Given the description of an element on the screen output the (x, y) to click on. 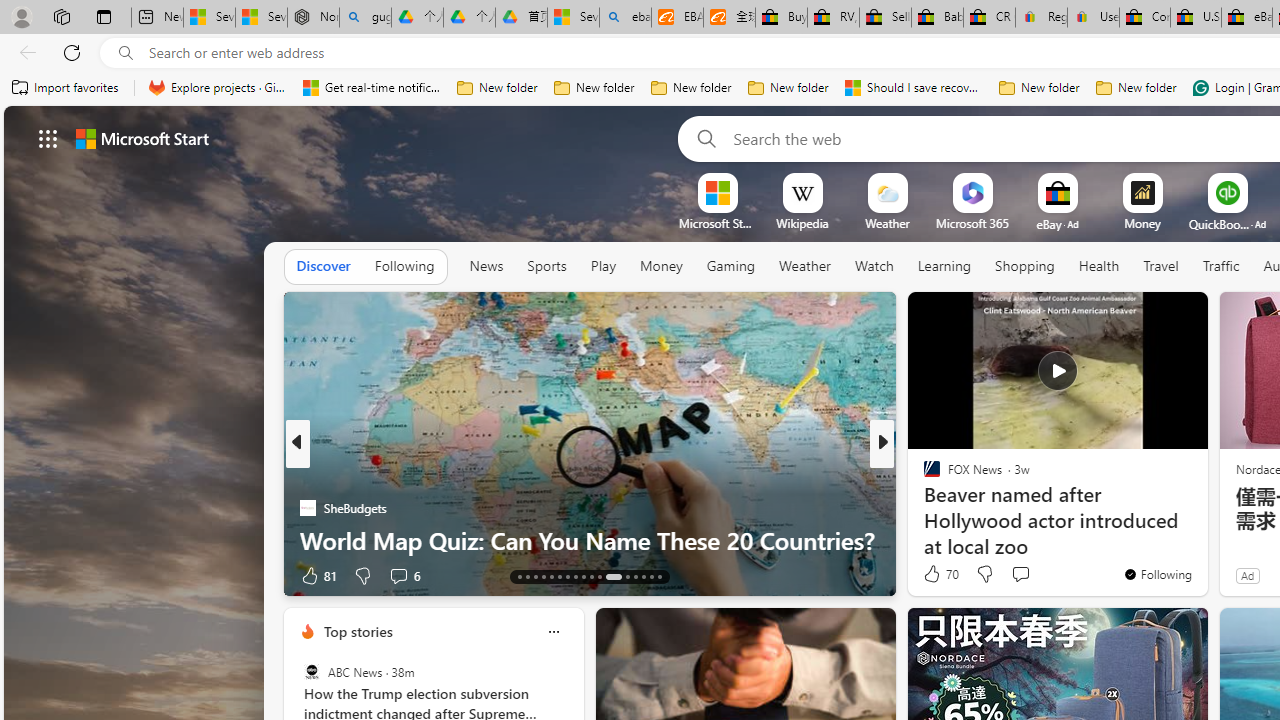
Sell worldwide with eBay (885, 17)
View comments 6 Comment (403, 574)
Ad (1247, 575)
29 Like (934, 574)
Gaming (730, 267)
News (486, 265)
Watch (874, 267)
New folder (1136, 88)
70 Like (939, 574)
Start the conversation (1019, 573)
Traffic (1220, 267)
Ad Choice (264, 575)
Top stories (357, 631)
Nordace (938, 507)
